Given the description of an element on the screen output the (x, y) to click on. 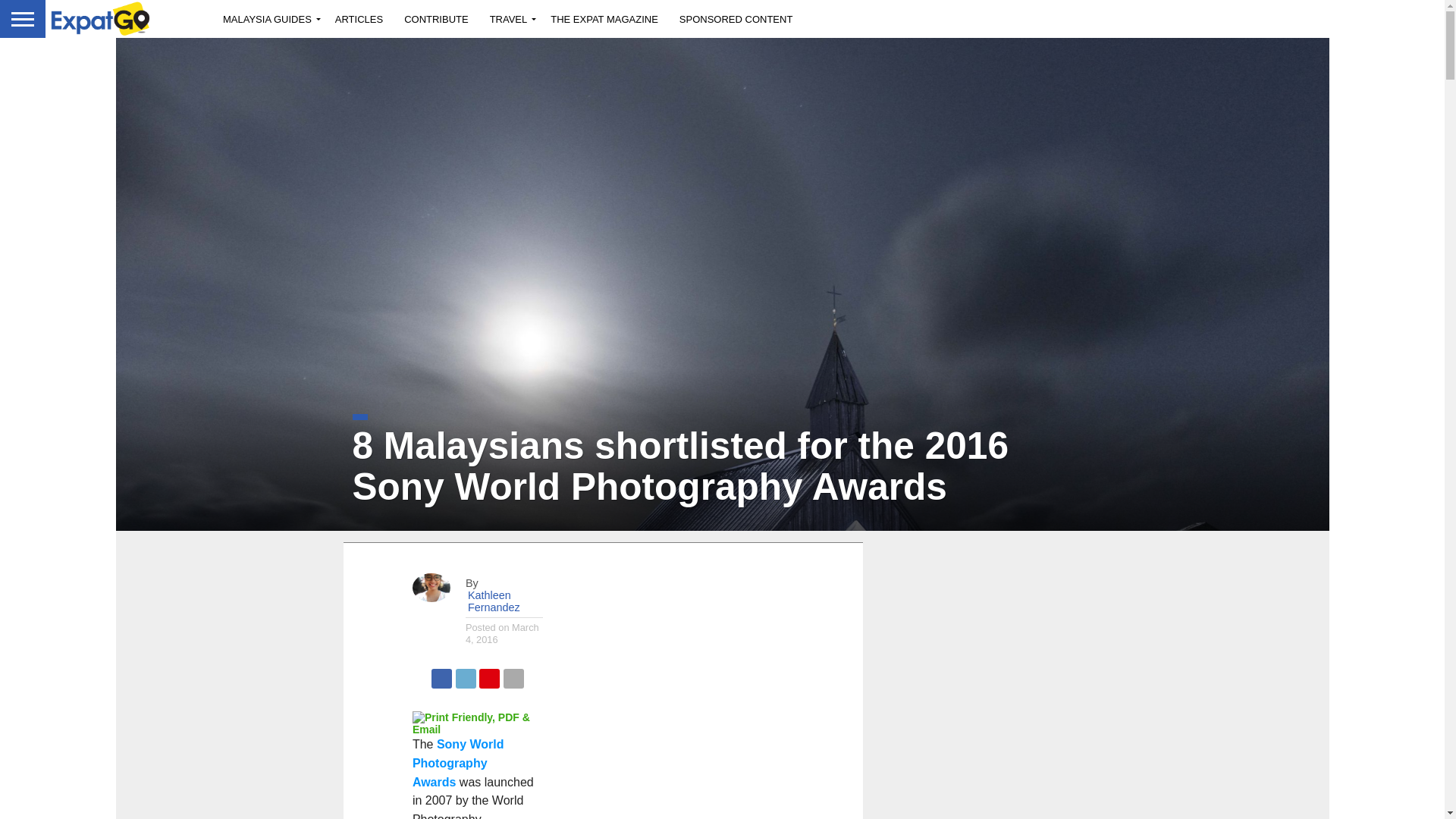
Tweet This Post (465, 674)
Pin This Post (489, 674)
Posts by Kathleen Fernandez (493, 600)
Share on Facebook (440, 674)
